Given the description of an element on the screen output the (x, y) to click on. 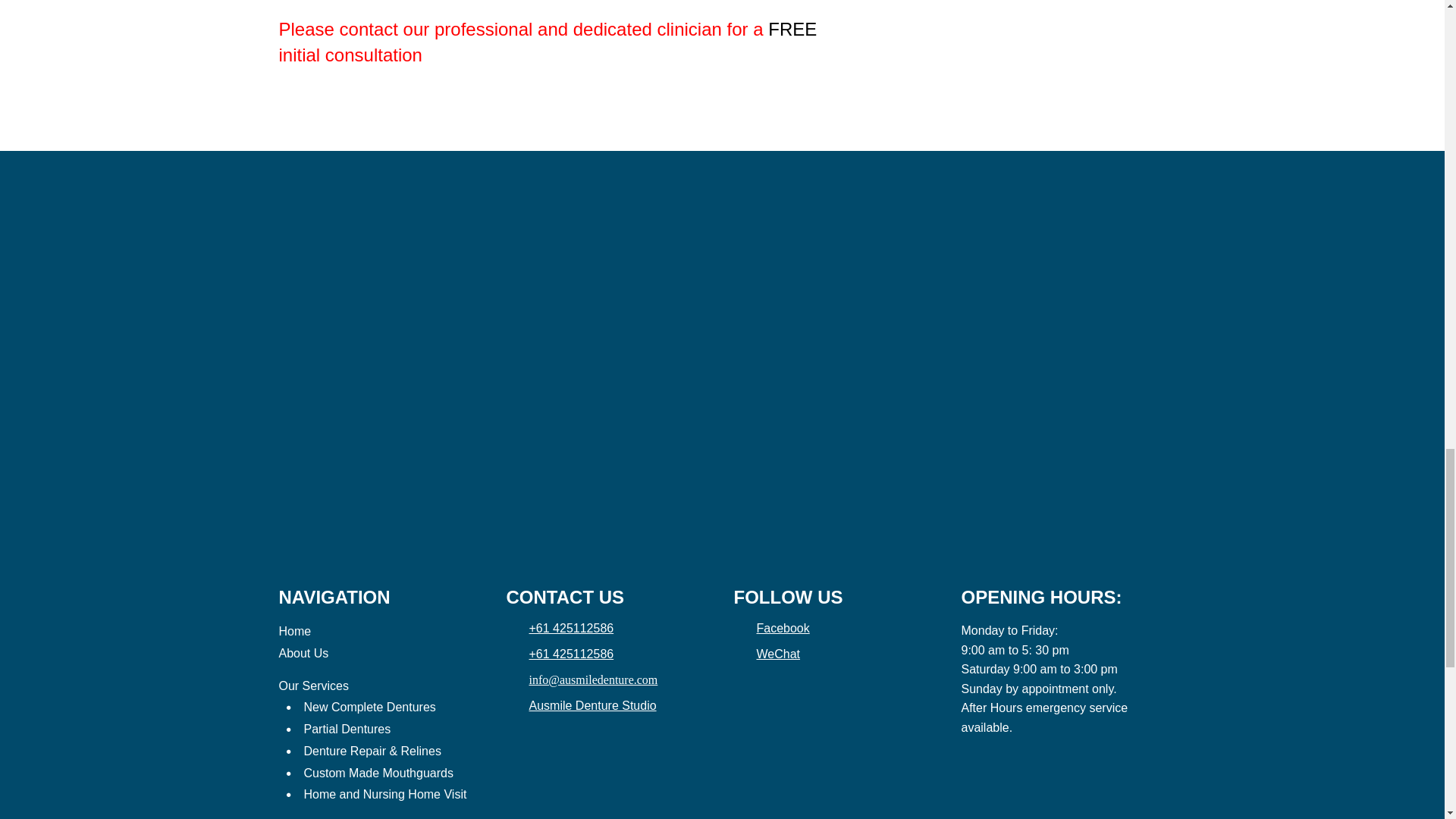
Home (295, 631)
Custom Made Mouthguards (377, 773)
Partial Dentures (346, 729)
WeChat (766, 654)
Facebook (771, 628)
Home and Nursing Home Visit (383, 794)
New Complete Dentures (368, 707)
About Us (304, 653)
Ausmile Denture Studio (581, 705)
